Given the description of an element on the screen output the (x, y) to click on. 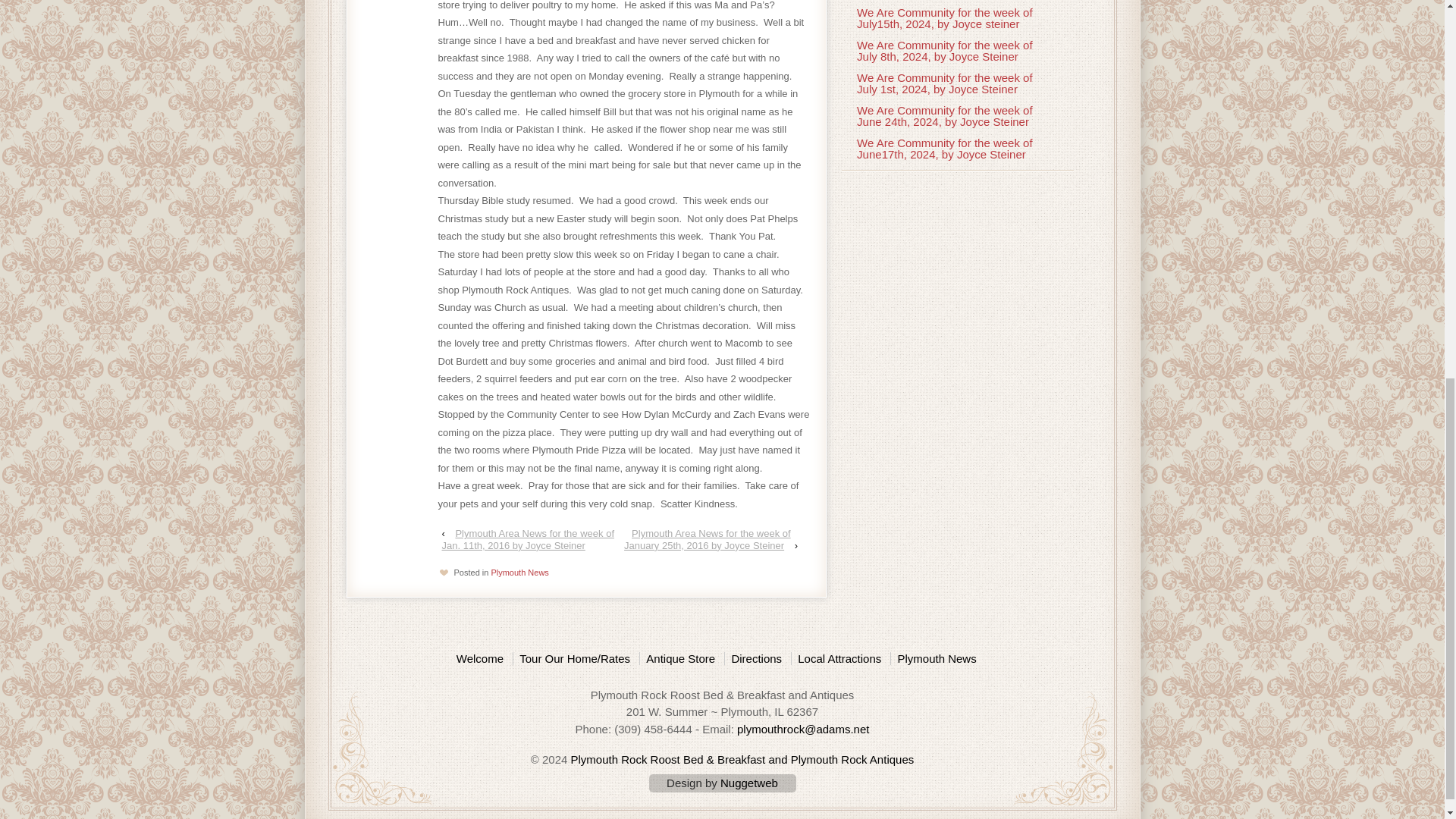
Antique Store (679, 658)
Local Attractions (838, 658)
Nuggetweb (748, 782)
Plymouth News (935, 658)
Welcome (483, 658)
Directions (755, 658)
Plymouth News (519, 572)
